Given the description of an element on the screen output the (x, y) to click on. 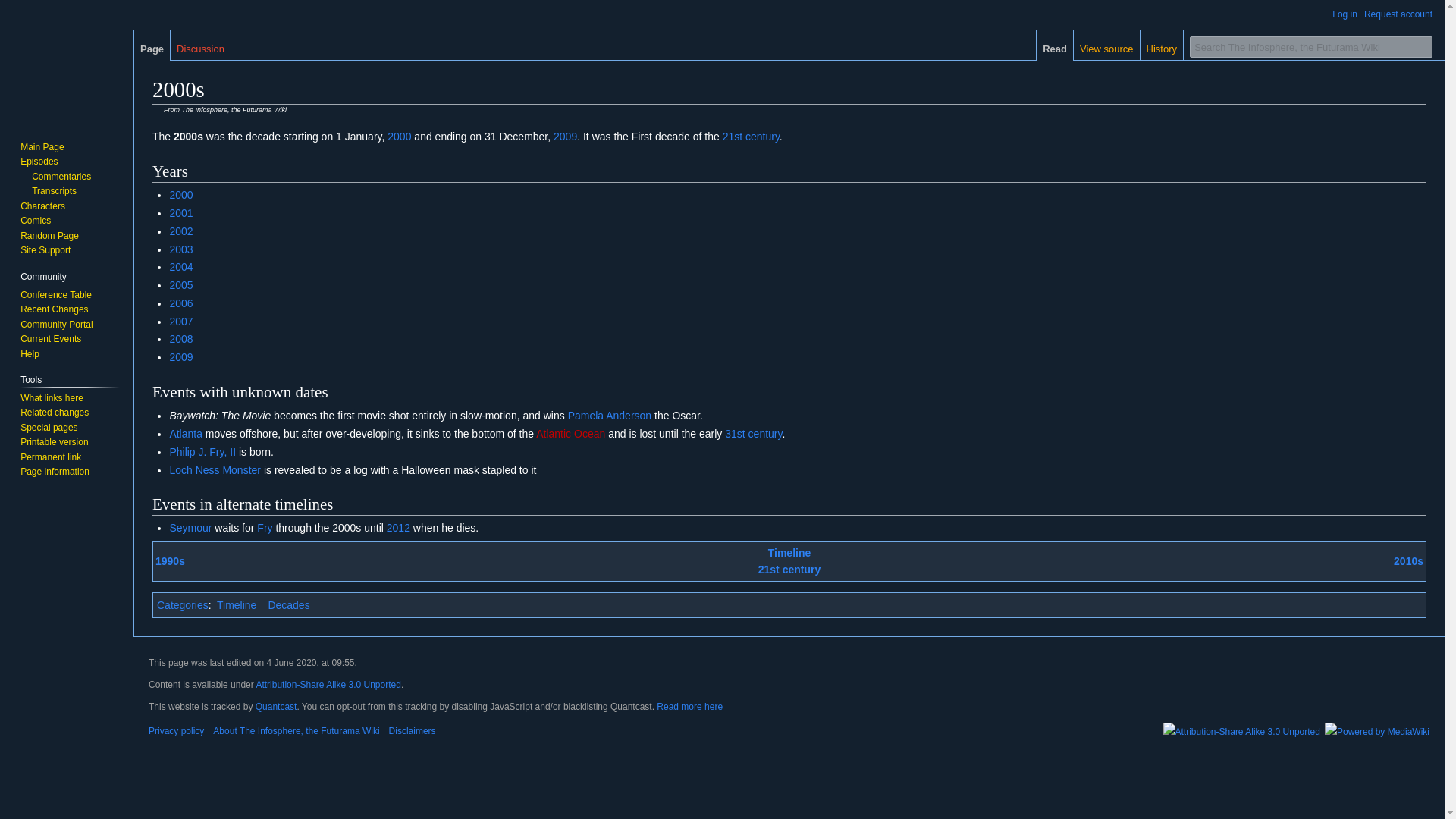
2003 (180, 249)
2000 (180, 194)
Pamela Anderson (609, 415)
Atlantic Ocean (570, 433)
2002 (180, 231)
2009 (180, 357)
2006 (180, 303)
Decades (287, 604)
21st century (750, 136)
Request account (1398, 14)
